Given the description of an element on the screen output the (x, y) to click on. 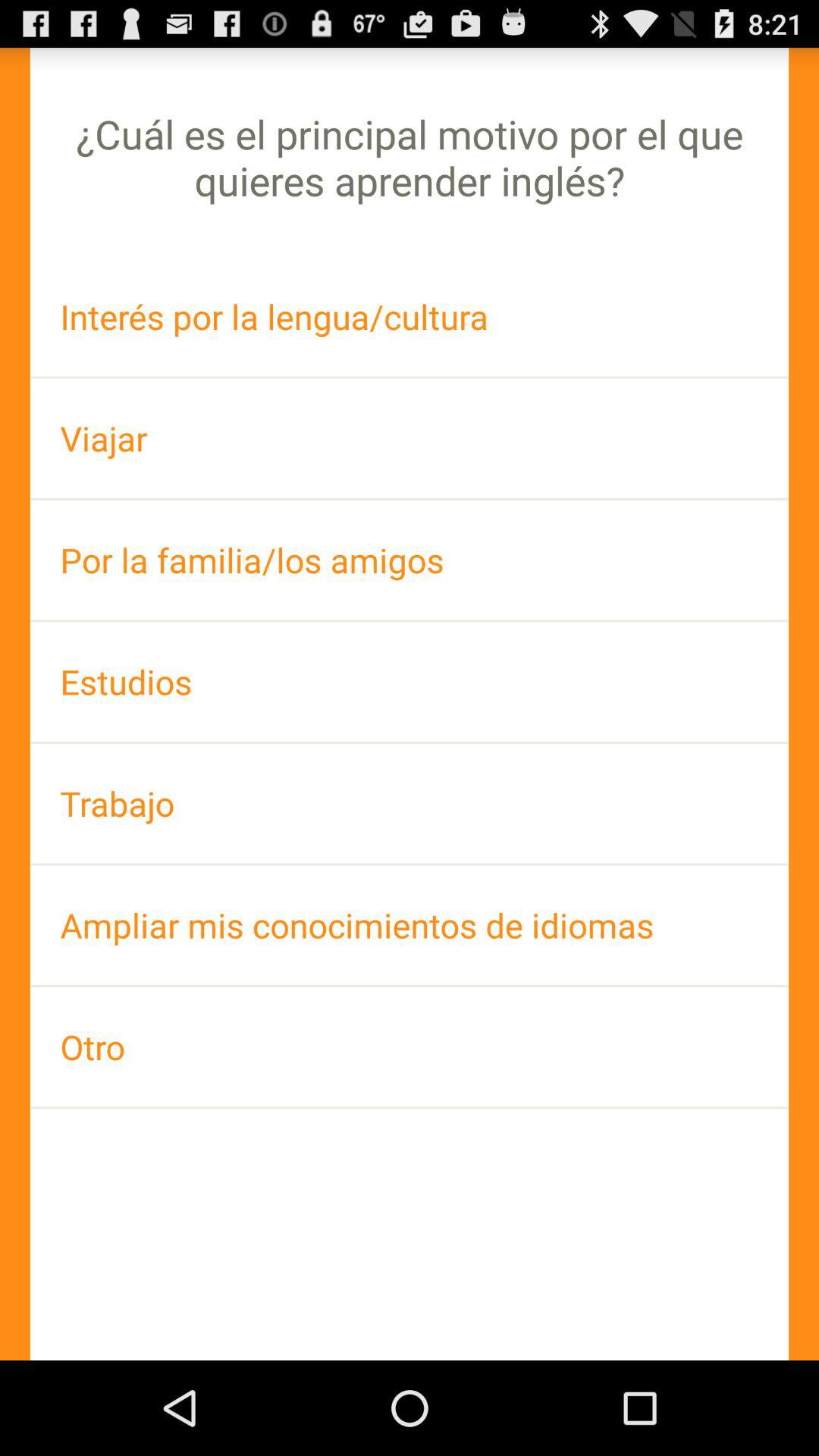
select the app above the por la familia app (409, 438)
